Given the description of an element on the screen output the (x, y) to click on. 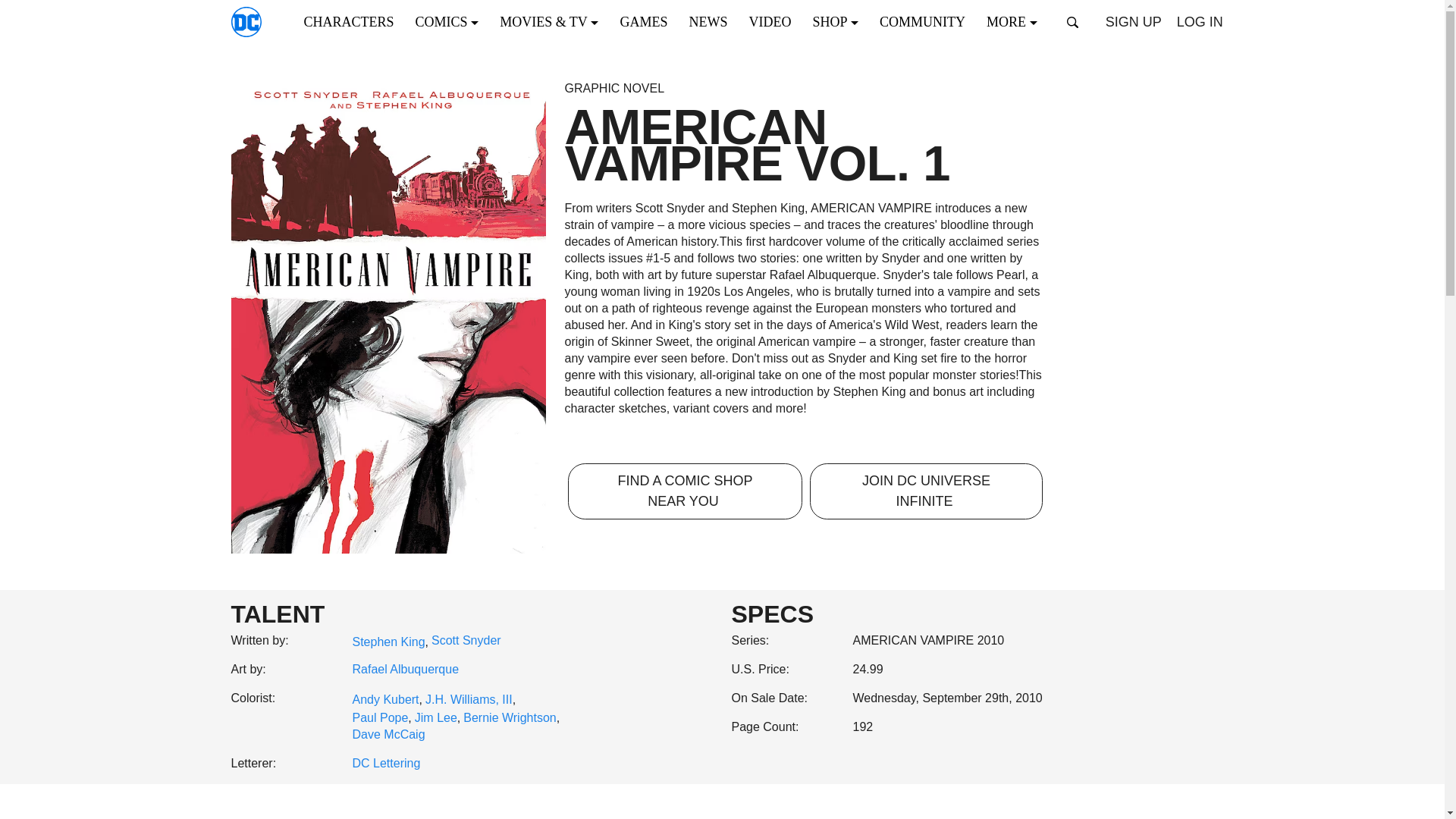
COMICS (452, 21)
Open search (1072, 22)
CHARACTERS (353, 21)
